Given the description of an element on the screen output the (x, y) to click on. 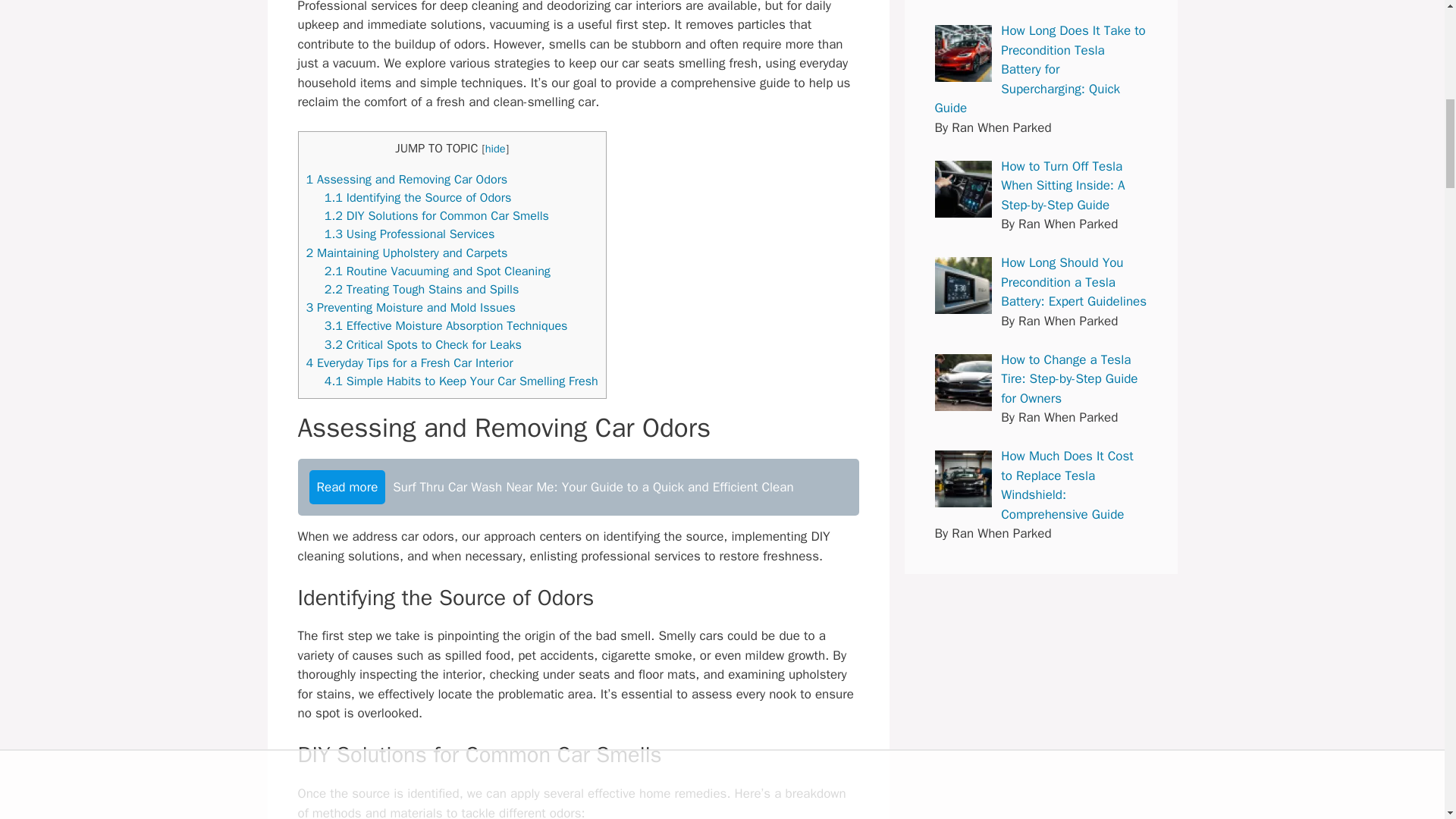
2 Maintaining Upholstery and Carpets (406, 252)
3.2 Critical Spots to Check for Leaks (422, 344)
2.1 Routine Vacuuming and Spot Cleaning (437, 270)
2.2 Treating Tough Stains and Spills (421, 289)
3.1 Effective Moisture Absorption Techniques (445, 325)
1.3 Using Professional Services (409, 233)
hide (494, 148)
1.2 DIY Solutions for Common Car Smells (436, 215)
3 Preventing Moisture and Mold Issues (410, 307)
1 Assessing and Removing Car Odors (406, 179)
1.1 Identifying the Source of Odors (418, 197)
